Given the description of an element on the screen output the (x, y) to click on. 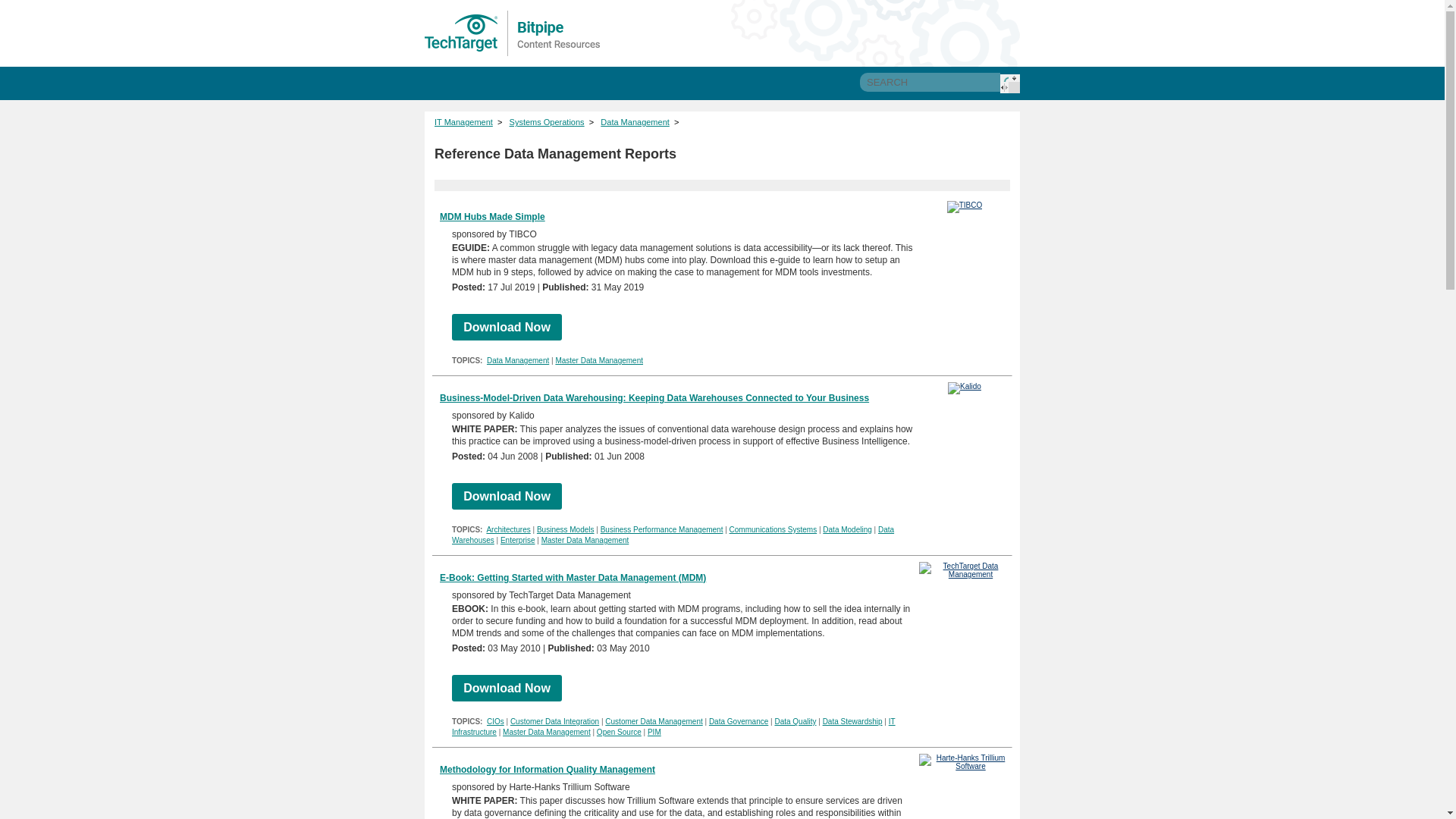
Communications Systems (772, 529)
Data Management (634, 121)
Systems Operations (547, 121)
PIM (654, 732)
Master Data Management (584, 540)
Customer Data Management (653, 721)
Data Modeling (846, 529)
SEARCH (930, 81)
Business Models (565, 529)
Enterprise (517, 540)
Go! (1010, 83)
Master Data Management (598, 360)
Go! (1010, 83)
Data Governance (738, 721)
